Given the description of an element on the screen output the (x, y) to click on. 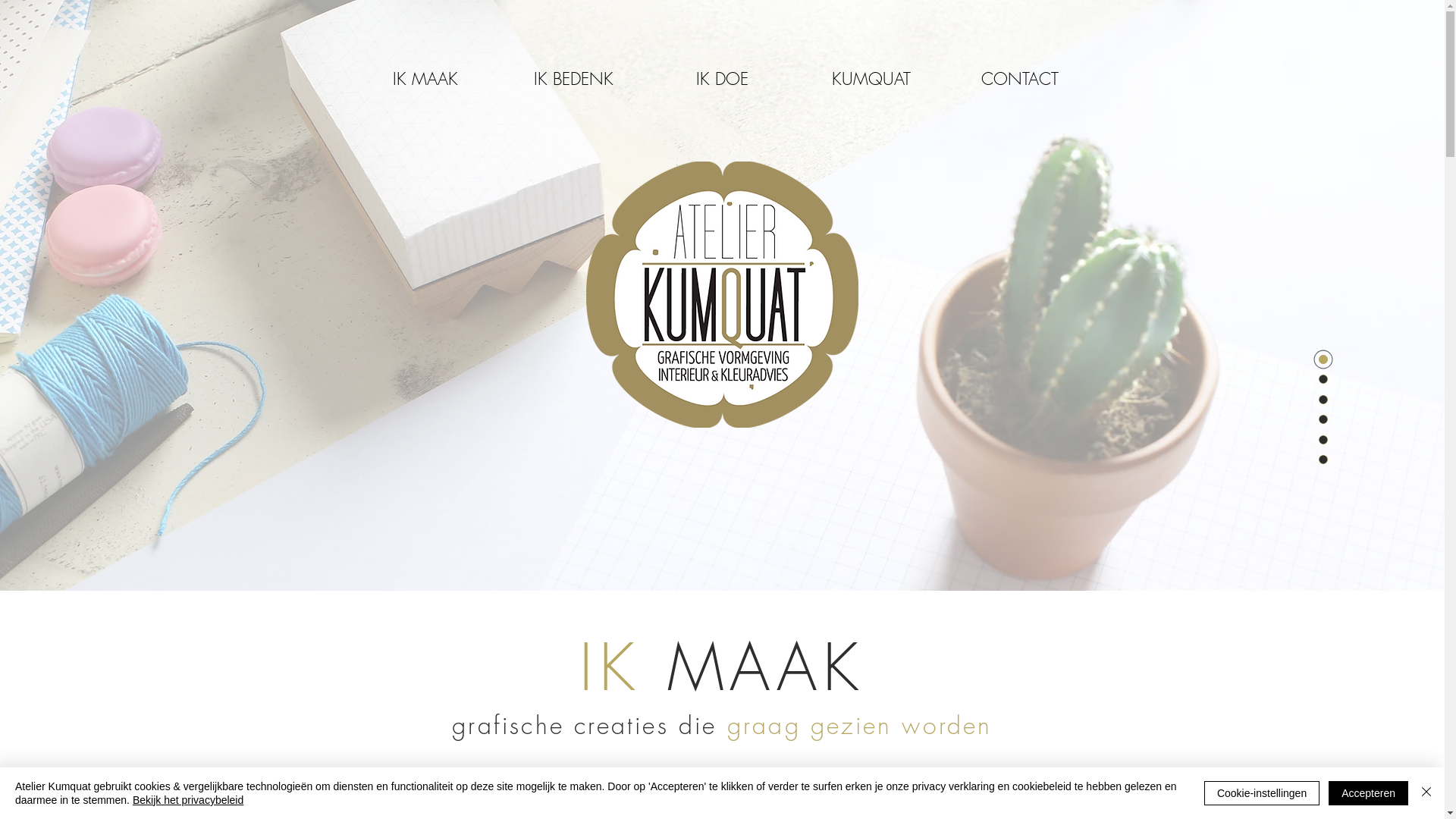
Cookie-instellingen Element type: text (1261, 793)
Accepteren Element type: text (1368, 793)
Bekijk het privacybeleid Element type: text (187, 799)
IK MAAK Element type: text (424, 78)
IK BEDENK Element type: text (572, 78)
KUMQUAT Element type: text (870, 78)
CONTACT Element type: text (1018, 78)
IK DOE Element type: text (721, 78)
